Given the description of an element on the screen output the (x, y) to click on. 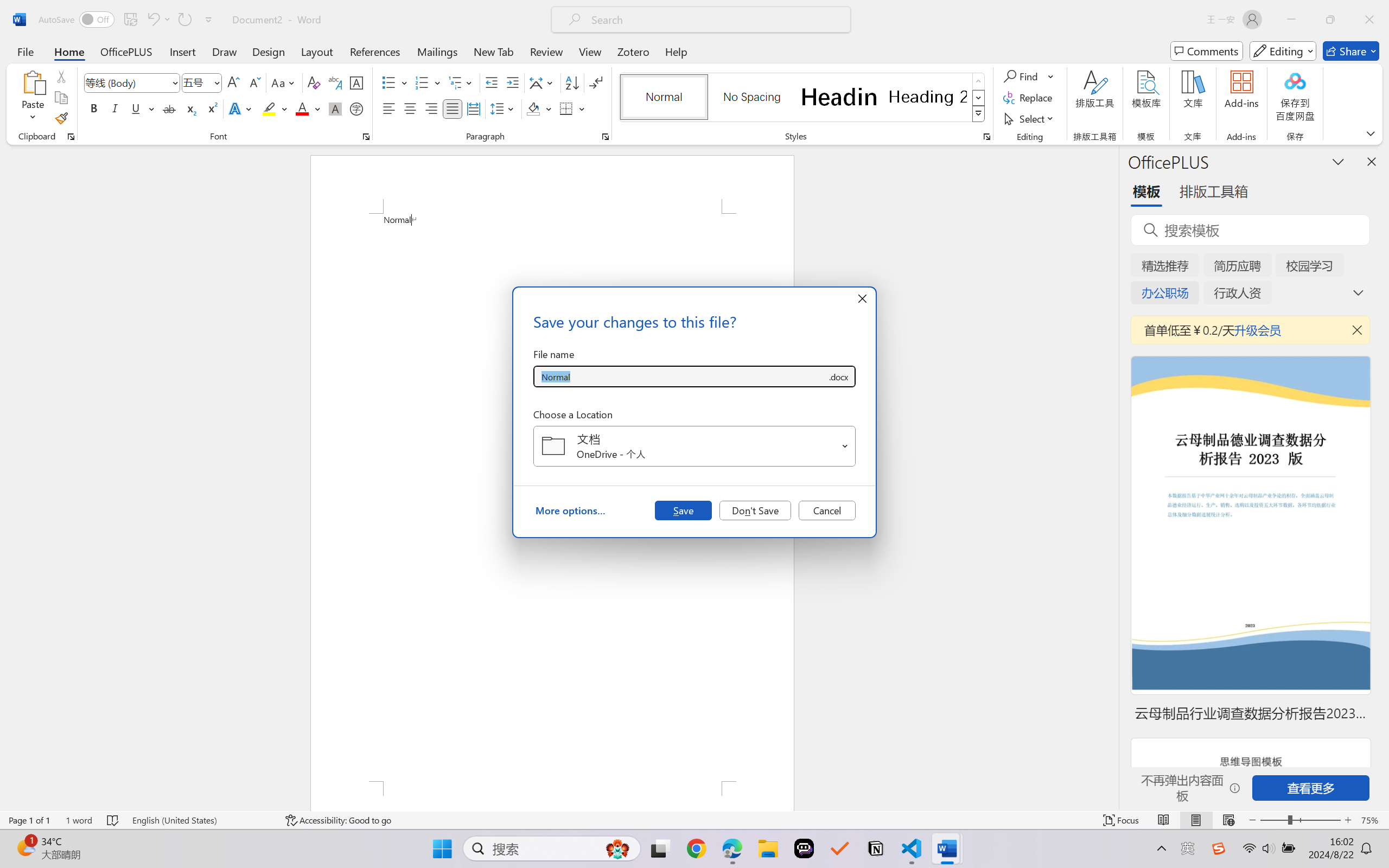
Character Border (356, 82)
Zotero (632, 51)
Zoom In (1348, 819)
Help (675, 51)
Save as type (837, 376)
Shading RGB(0, 0, 0) (533, 108)
Review (546, 51)
Underline (135, 108)
Insert (182, 51)
OfficePLUS (126, 51)
